Given the description of an element on the screen output the (x, y) to click on. 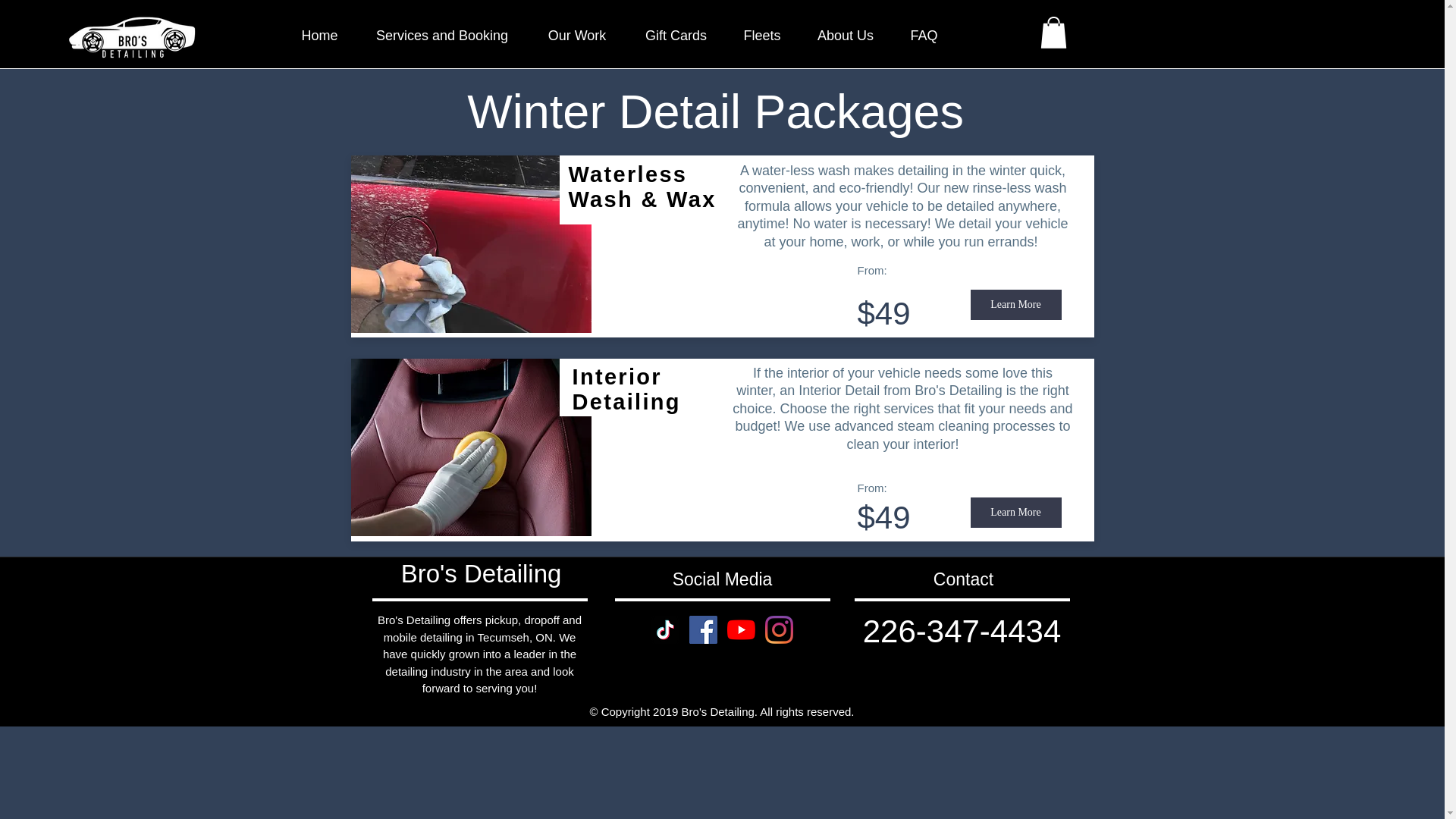
Social Media (722, 578)
Home (319, 35)
Gift Cards (675, 35)
Fleets (761, 35)
Our Work (576, 35)
FAQ (923, 35)
Services and Booking (441, 35)
Learn More (1016, 304)
Bro's Detailing (481, 573)
Contact (962, 578)
About Us (844, 35)
Learn More (1016, 512)
